Given the description of an element on the screen output the (x, y) to click on. 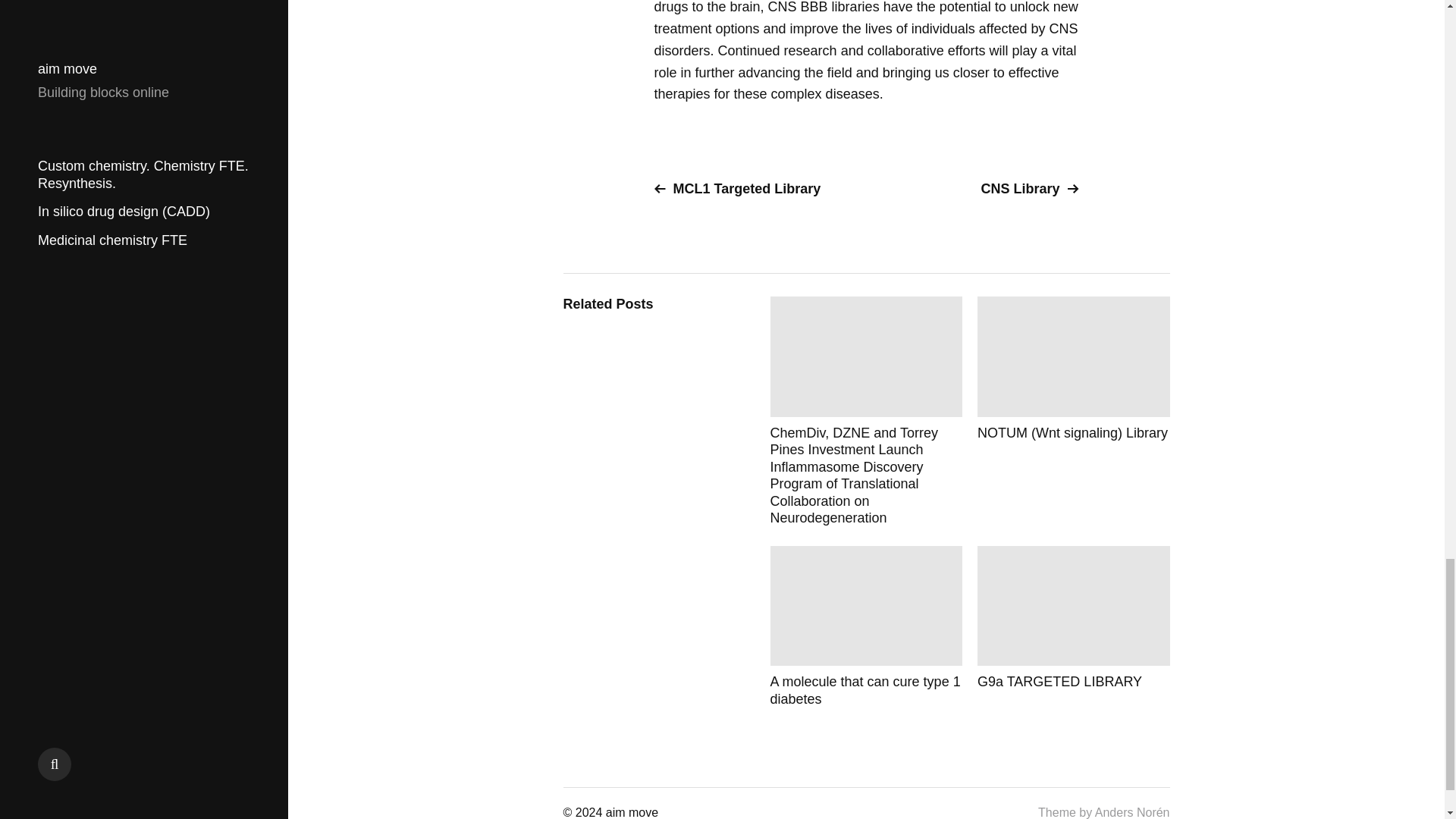
MCL1 Targeted Library (753, 188)
G9a TARGETED LIBRARY (1073, 626)
CNS Library (977, 188)
A molecule that can cure type 1 diabetes (866, 626)
